Given the description of an element on the screen output the (x, y) to click on. 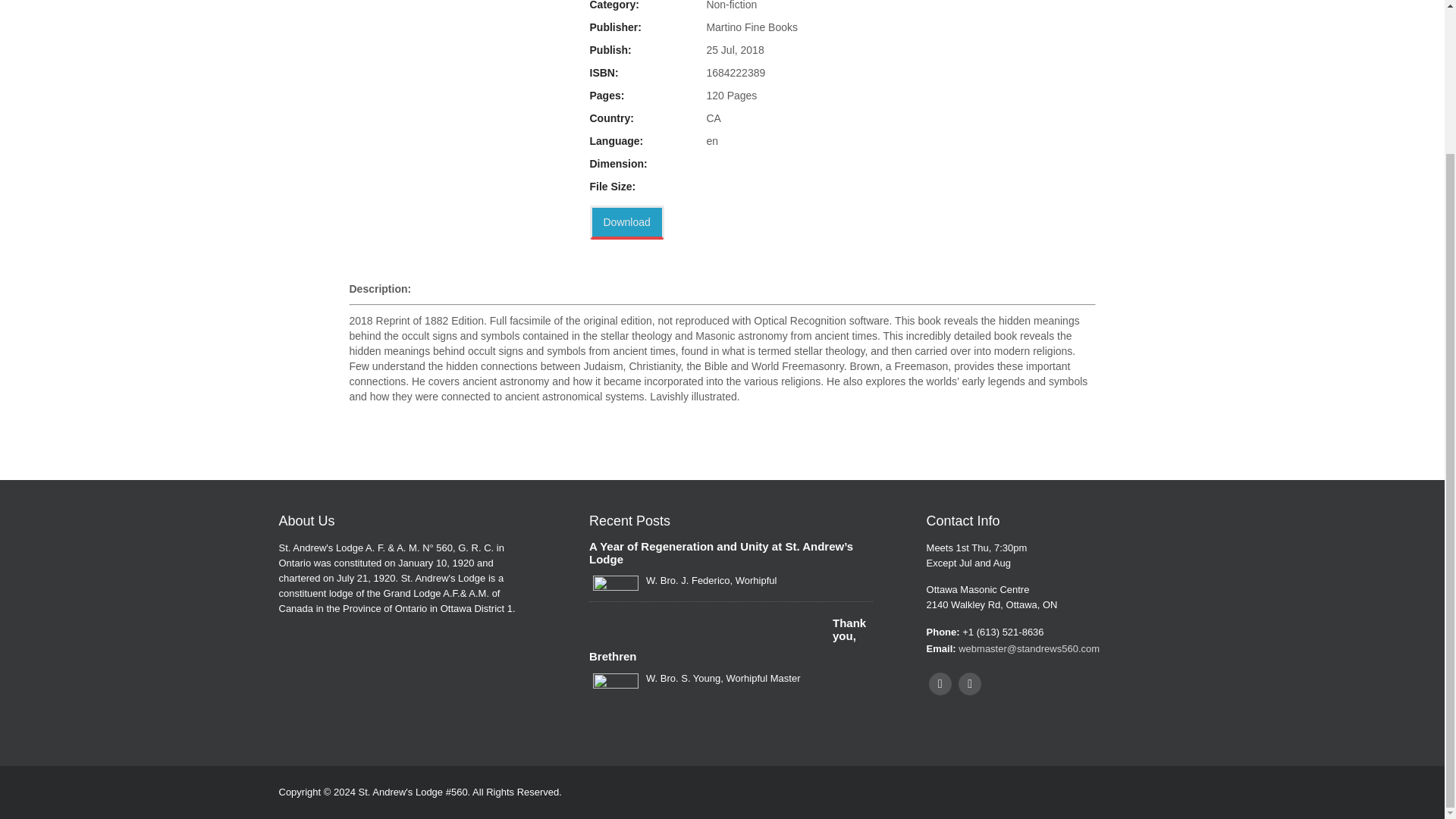
Thank you, Brethren (730, 639)
Download (626, 222)
